Given the description of an element on the screen output the (x, y) to click on. 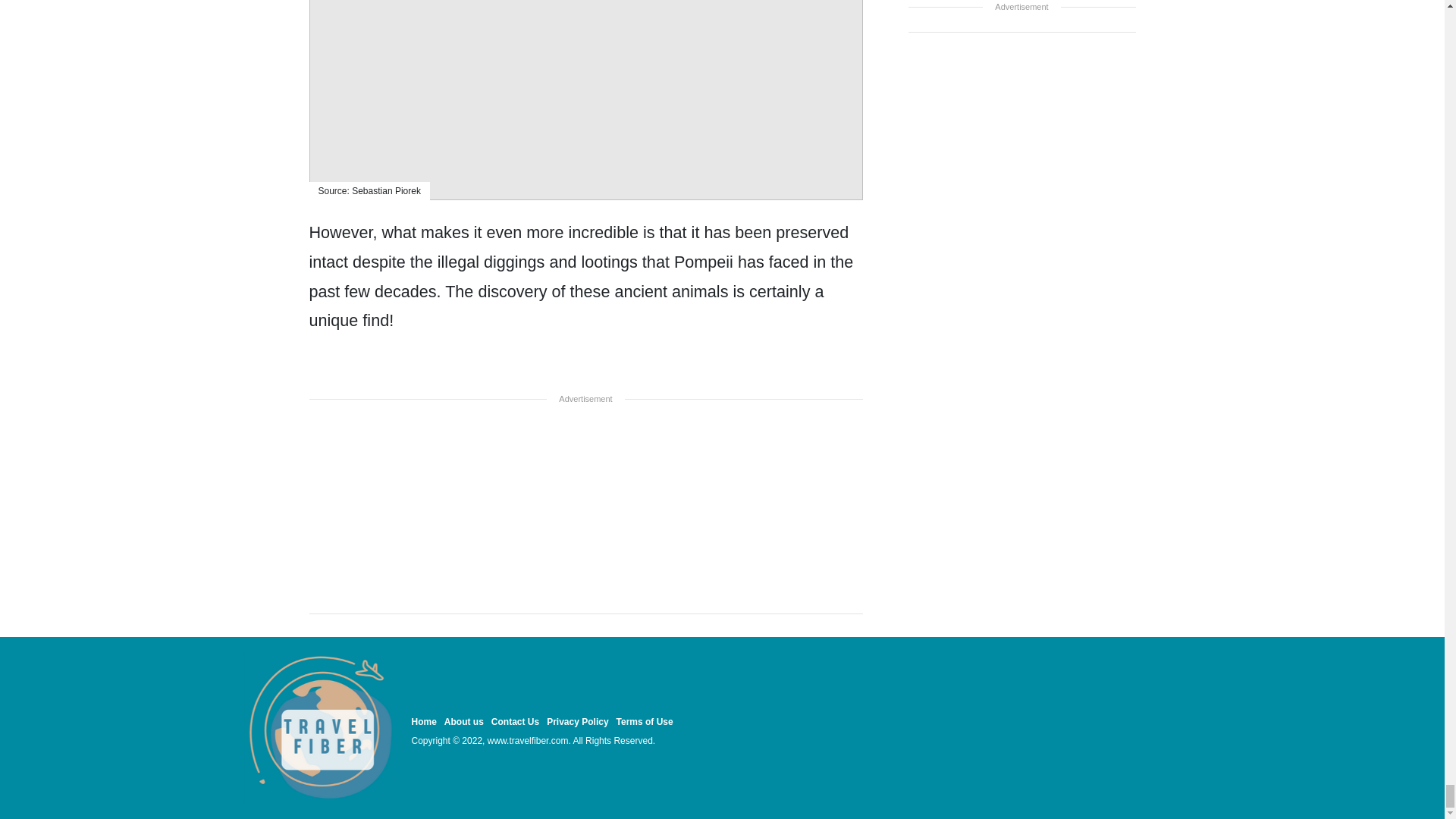
About us (463, 721)
Terms of Use (643, 721)
Home (422, 721)
Contact Us (515, 721)
Privacy Policy (577, 721)
